Given the description of an element on the screen output the (x, y) to click on. 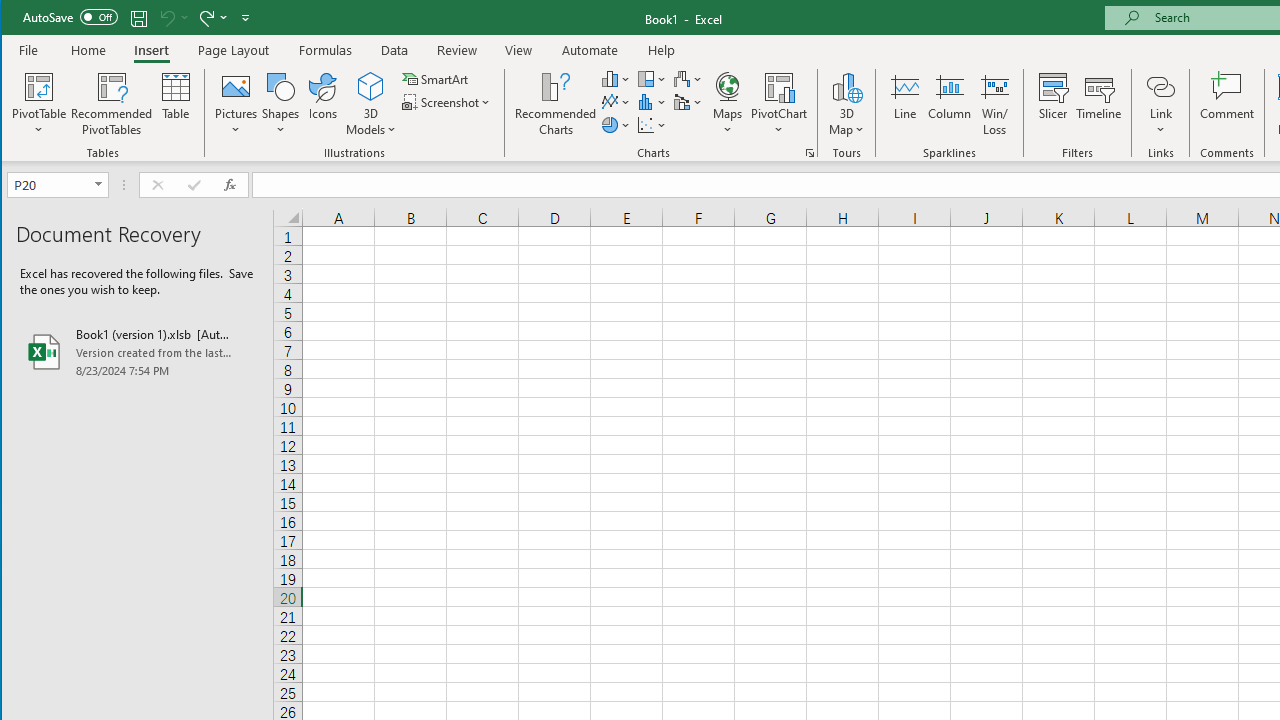
SmartArt... (436, 78)
Help (661, 50)
PivotChart (779, 104)
Review (456, 50)
Recommended PivotTables (111, 104)
Comment (1227, 104)
Timeline (1098, 104)
Undo (172, 17)
Quick Access Toolbar (137, 17)
PivotTable (39, 104)
Insert Column or Bar Chart (616, 78)
3D Models (371, 86)
Home (88, 50)
Insert Line or Area Chart (616, 101)
